Given the description of an element on the screen output the (x, y) to click on. 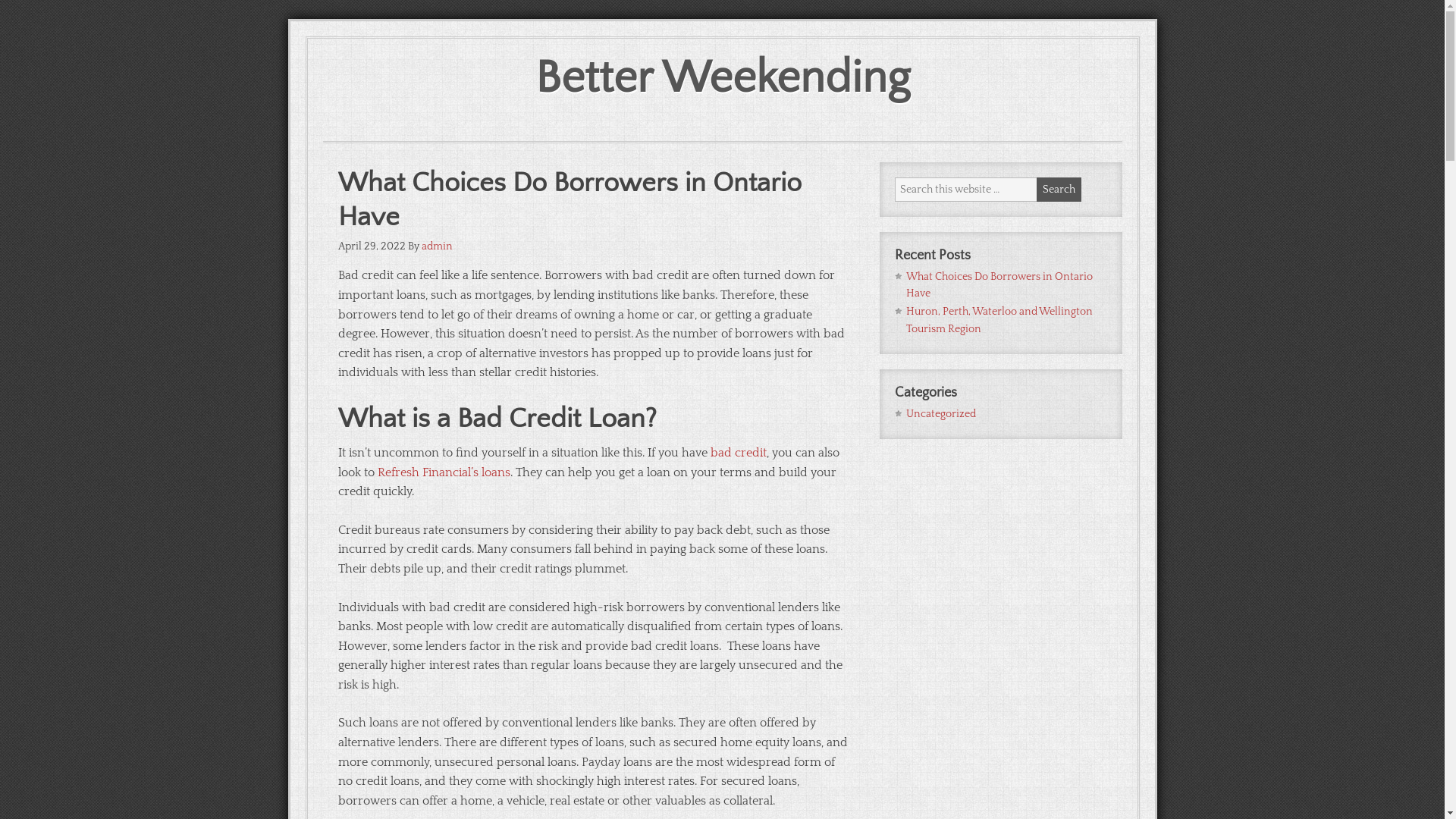
Uncategorized Element type: text (940, 413)
admin Element type: text (436, 246)
Huron, Perth, Waterloo and Wellington Tourism Region Element type: text (998, 319)
bad credit Element type: text (737, 452)
Search Element type: text (1057, 189)
What Choices Do Borrowers in Ontario Have Element type: text (569, 199)
Better Weekending Element type: text (722, 78)
What Choices Do Borrowers in Ontario Have Element type: text (998, 283)
